Given the description of an element on the screen output the (x, y) to click on. 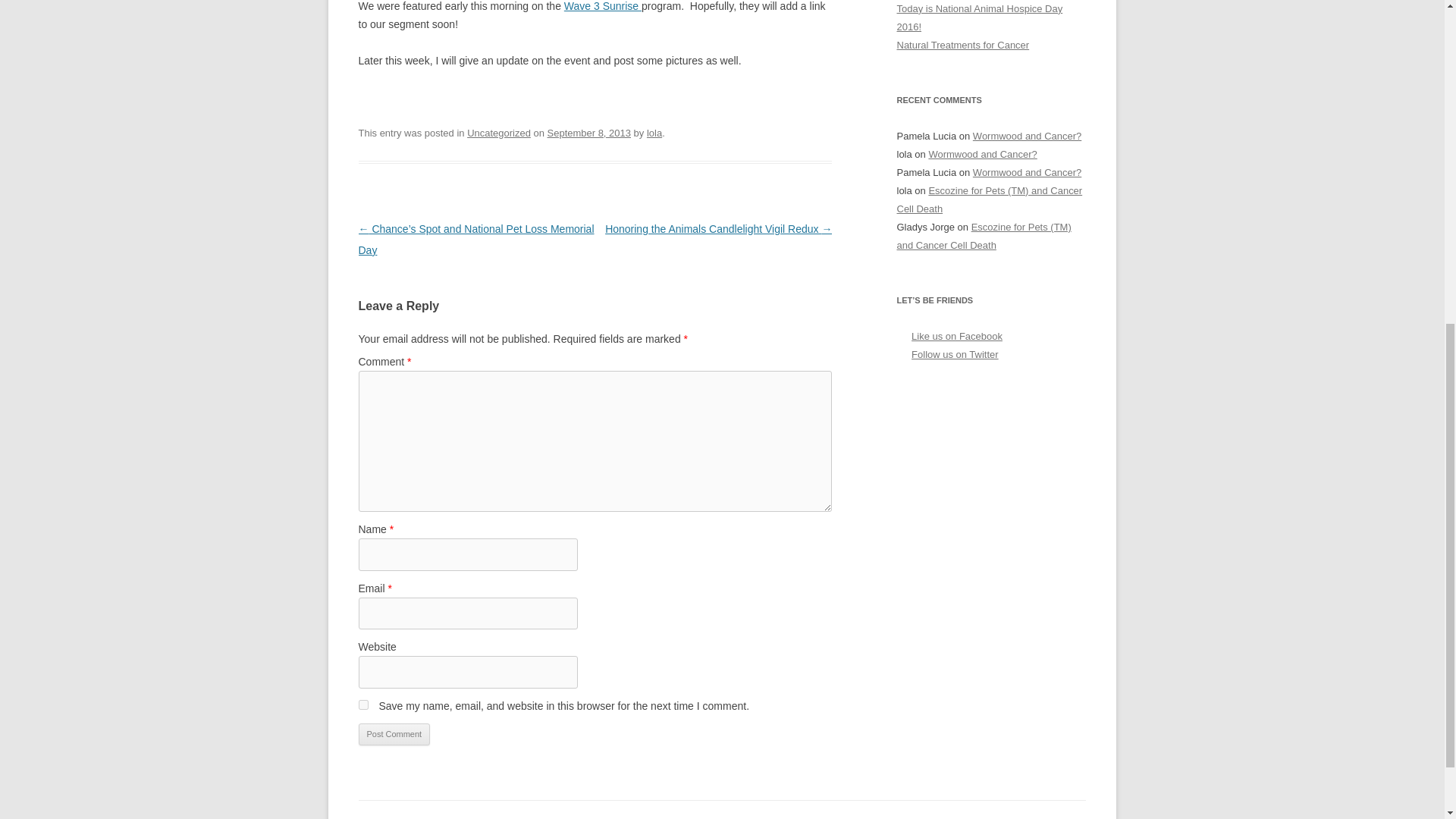
12:52 pm (588, 132)
Today is National Animal Hospice Day 2016! (979, 17)
September 8, 2013 (588, 132)
Uncategorized (499, 132)
lola (654, 132)
Like us on Facebook (957, 336)
Follow us on Twitter (954, 354)
Wormwood and Cancer? (1026, 135)
Wormwood and Cancer? (982, 153)
yes (363, 705)
